Given the description of an element on the screen output the (x, y) to click on. 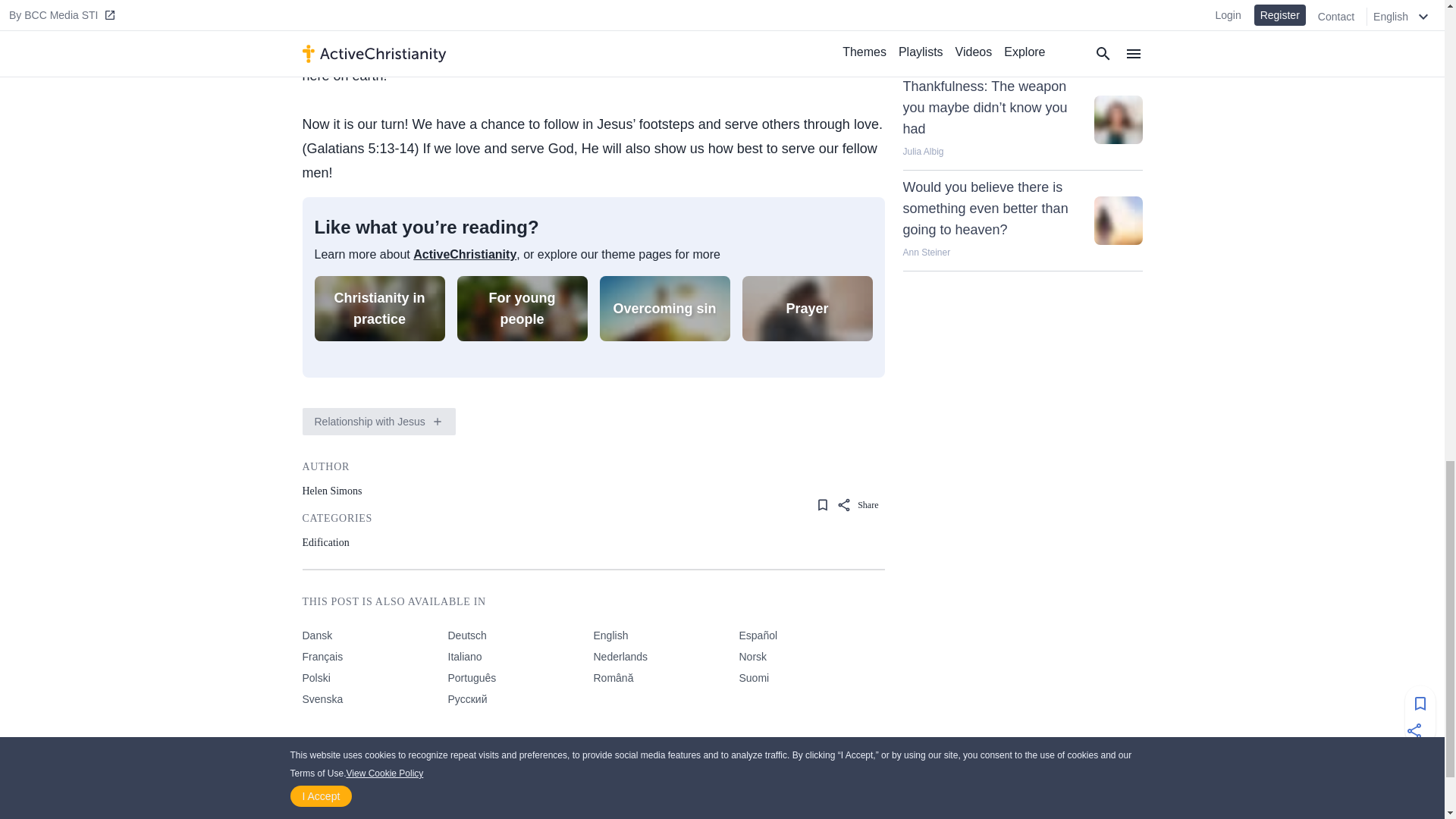
Overcoming sin (663, 308)
Dansk (373, 638)
Christianity in practice (379, 308)
Share (859, 504)
Deutsch (519, 638)
Edification (336, 541)
Helen Simons (336, 489)
ActiveChristianity (464, 254)
English (665, 638)
Relationship with Jesus (372, 421)
